Given the description of an element on the screen output the (x, y) to click on. 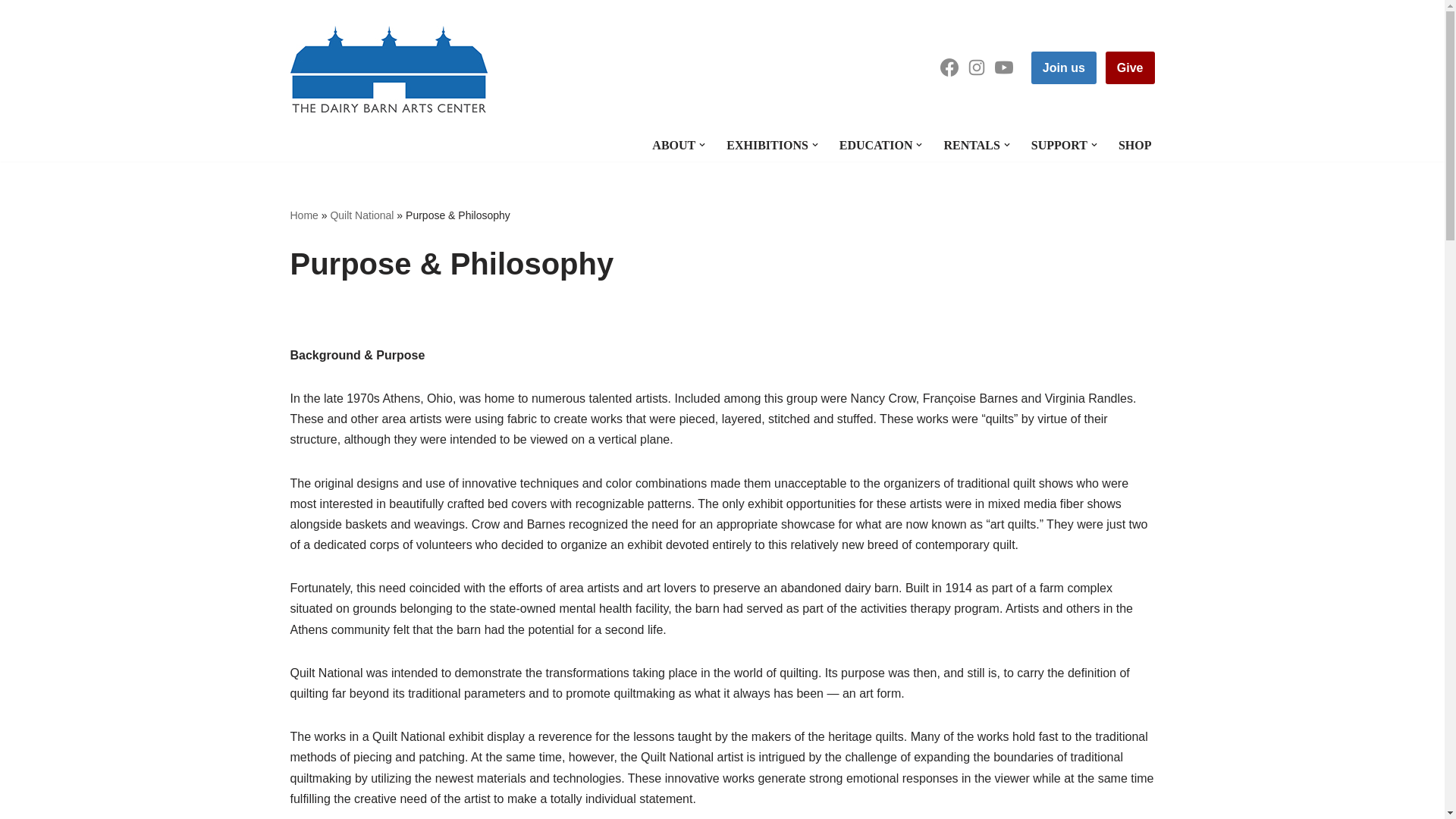
SUPPORT (1058, 145)
SHOP (1134, 145)
ABOUT (673, 145)
EDUCATION (876, 145)
Skip to content (11, 31)
EXHIBITIONS (767, 145)
Join us (1063, 67)
Give (1129, 67)
RENTALS (970, 145)
